Given the description of an element on the screen output the (x, y) to click on. 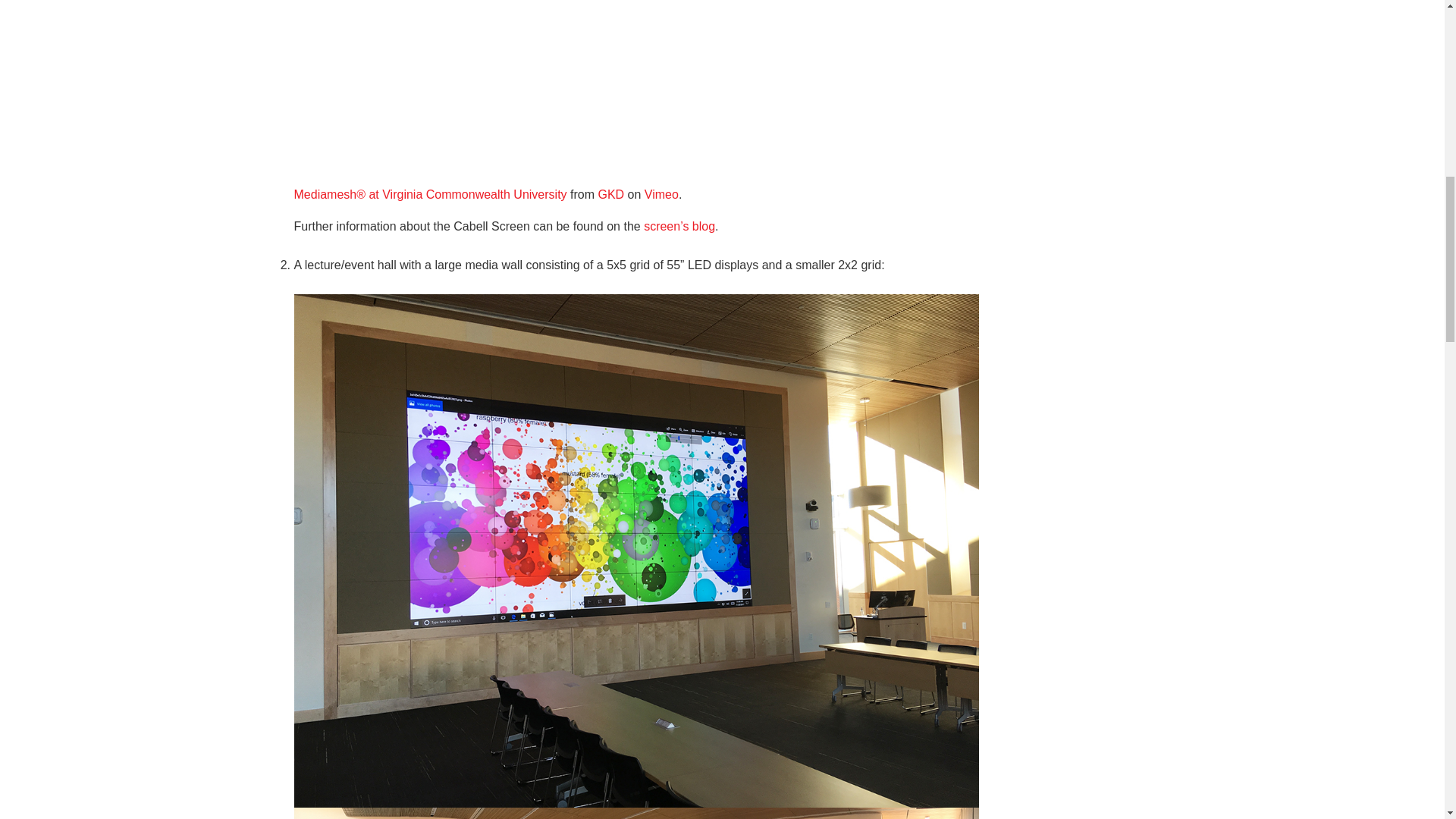
GKD (610, 194)
Vimeo (661, 194)
